Given the description of an element on the screen output the (x, y) to click on. 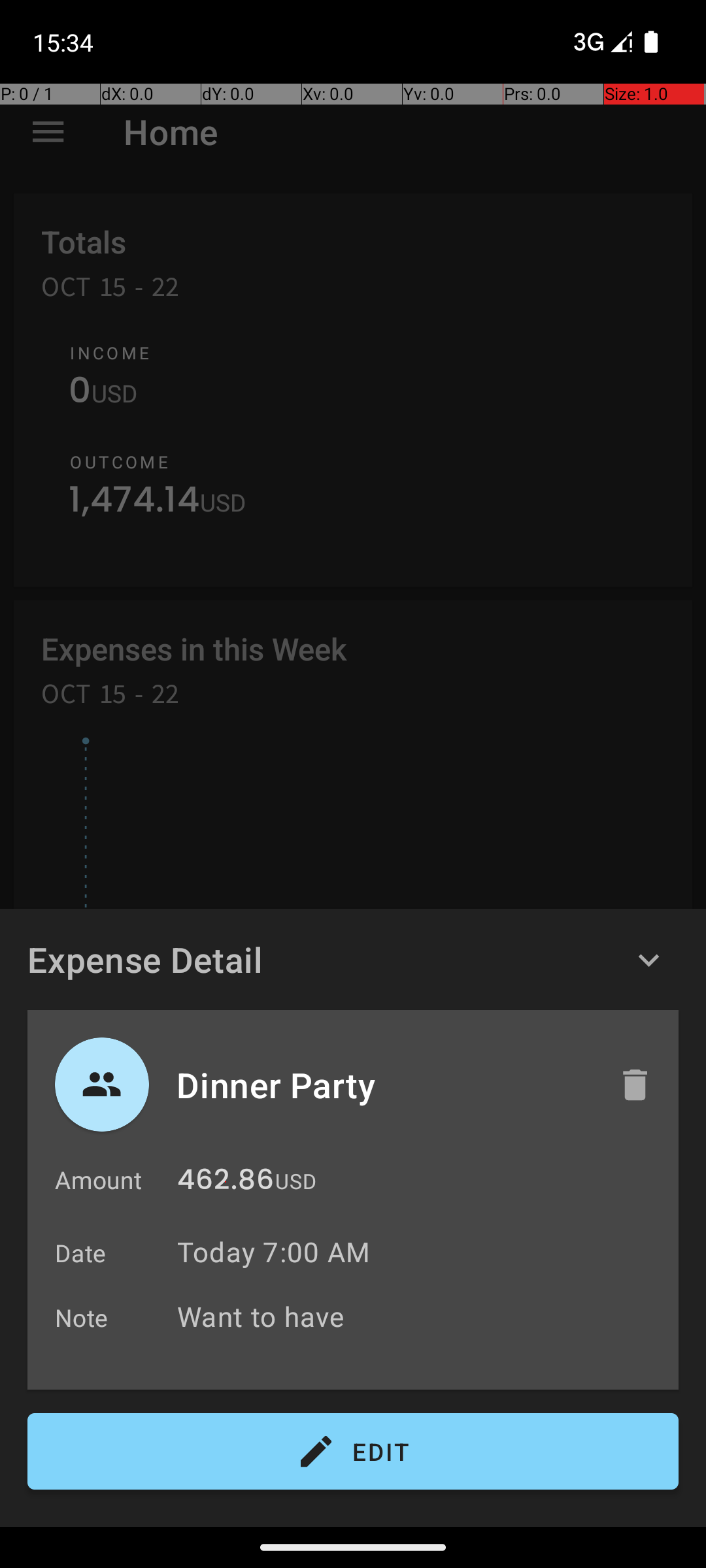
Dinner Party Element type: android.widget.TextView (383, 1084)
462.86 Element type: android.widget.TextView (225, 1182)
Today 7:00 AM Element type: android.widget.TextView (273, 1251)
Want to have Element type: android.widget.TextView (420, 1315)
